Given the description of an element on the screen output the (x, y) to click on. 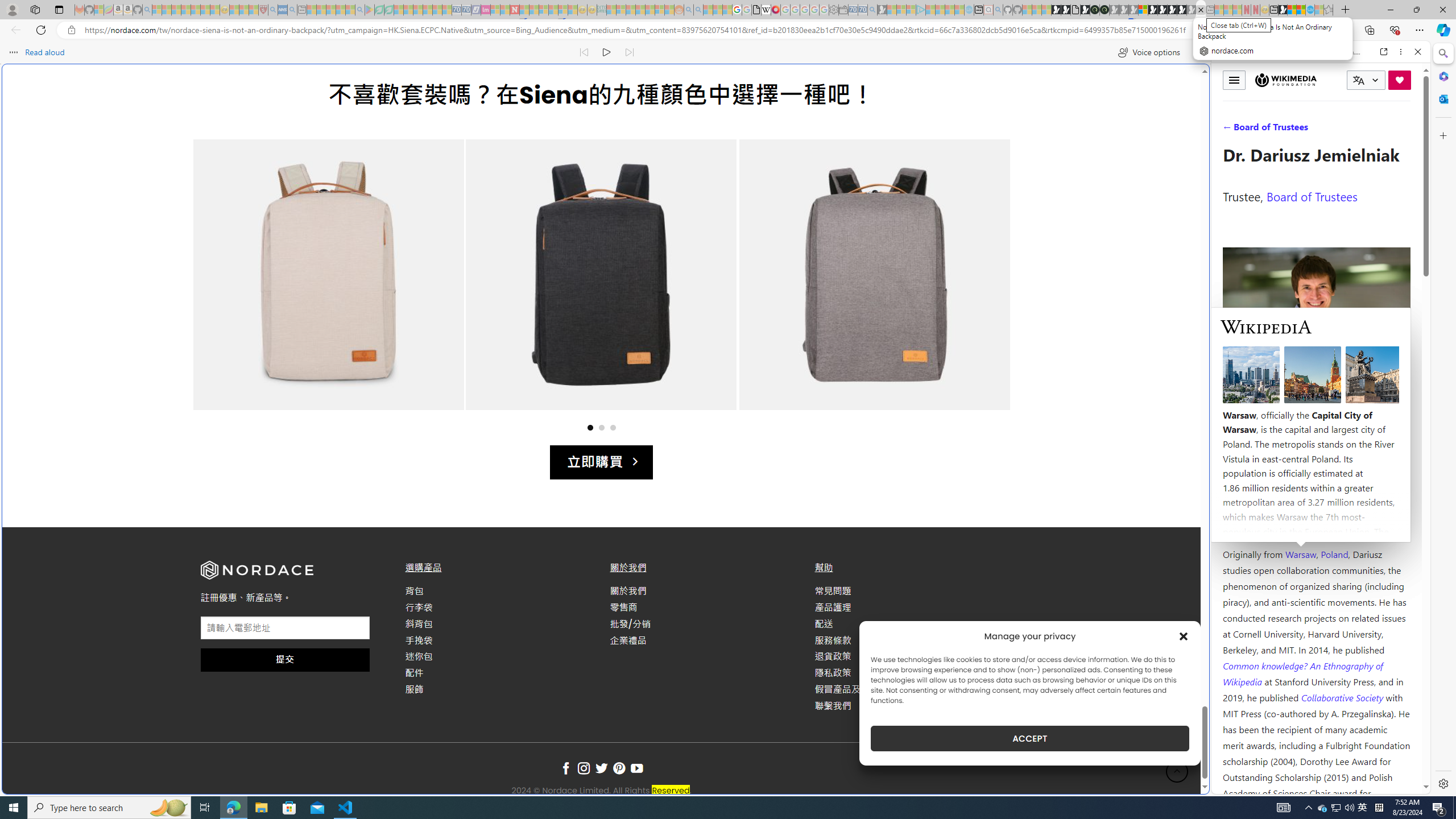
utah sues federal government - Search (922, 389)
MediaWiki (774, 9)
